Given the description of an element on the screen output the (x, y) to click on. 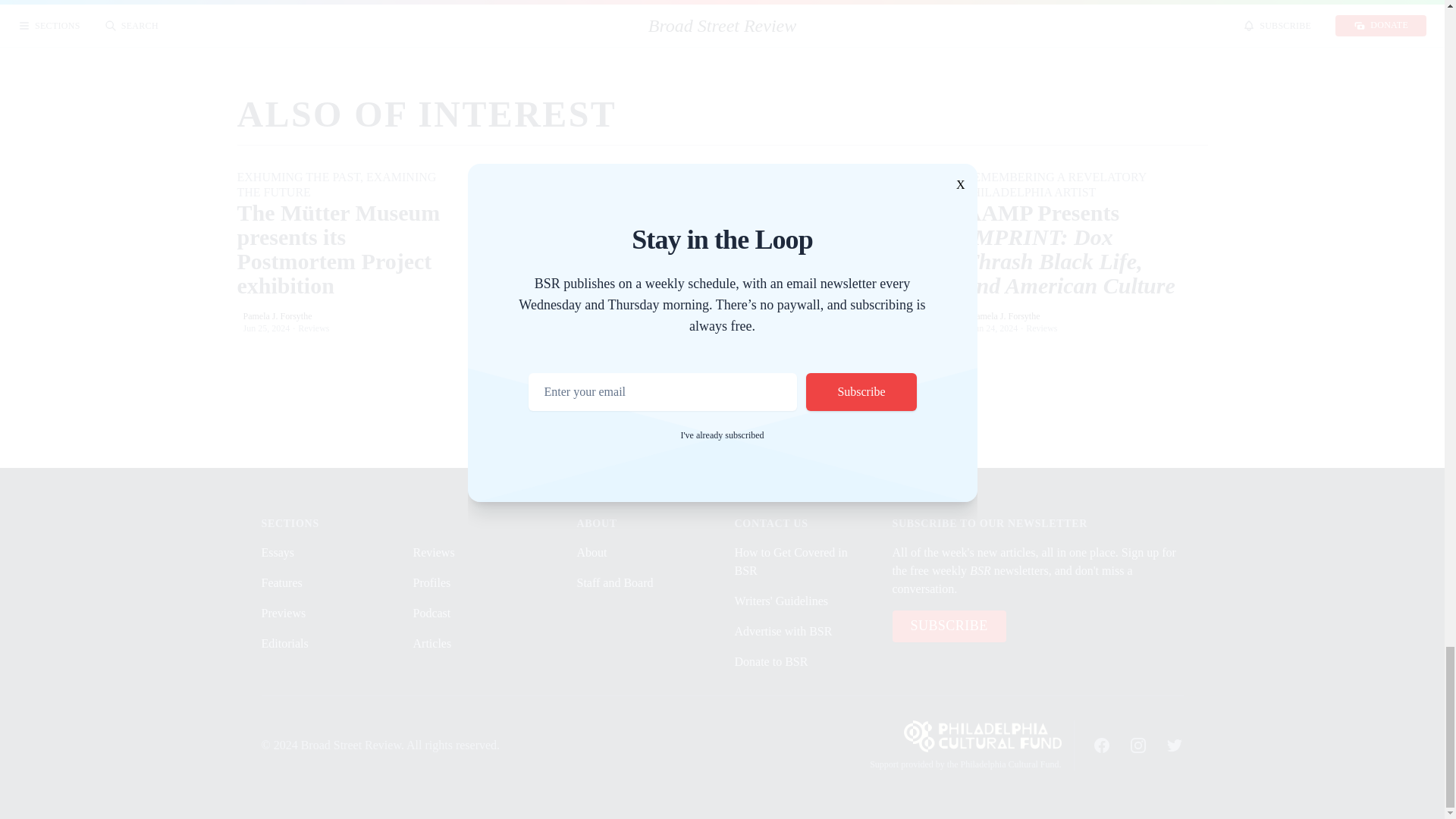
Wendy Univer (535, 316)
Pamela J. Forsythe (277, 316)
Reviews (579, 327)
Reviews (313, 327)
